Given the description of an element on the screen output the (x, y) to click on. 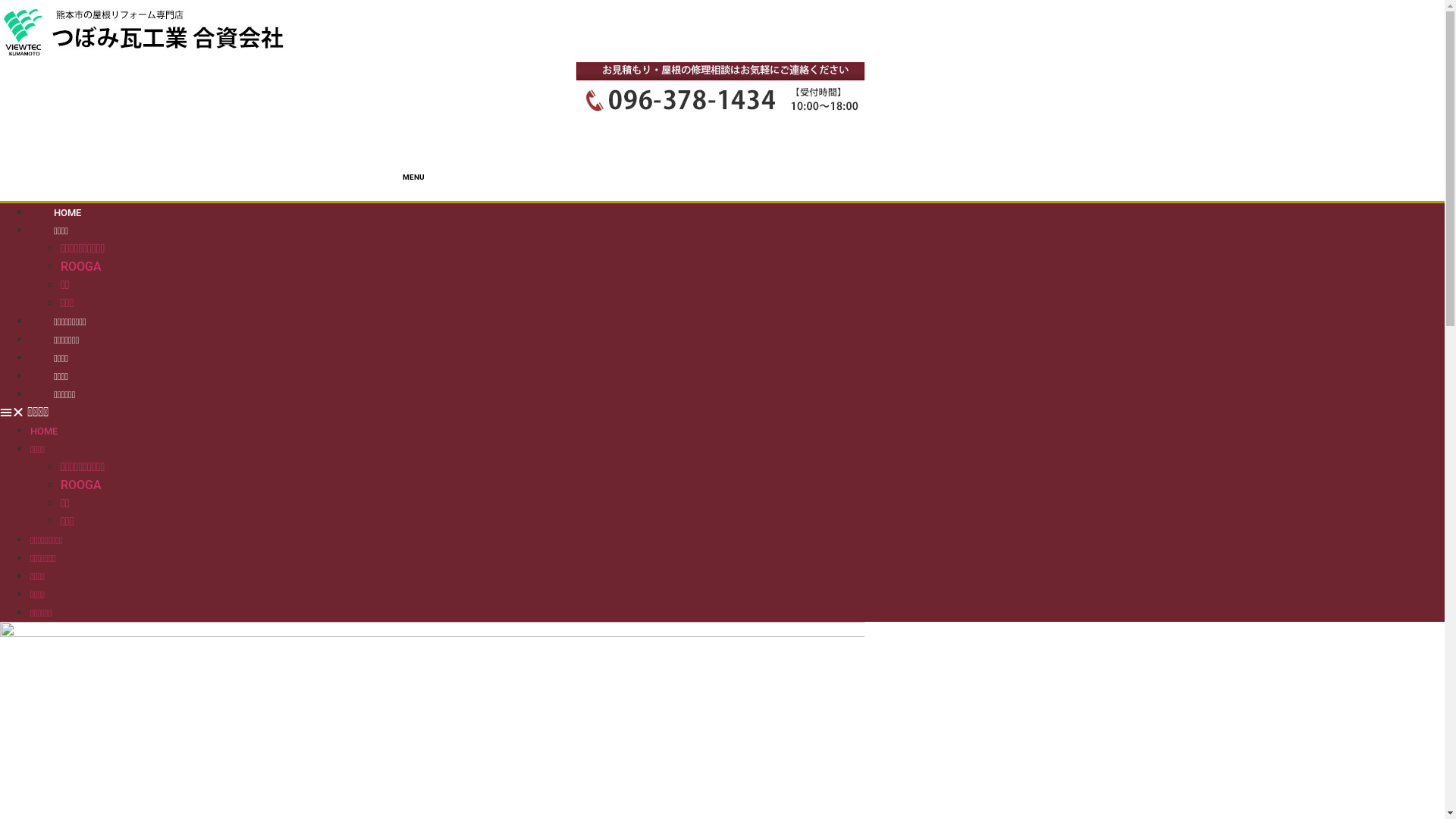
ROOGA Element type: text (80, 266)
ROOGA Element type: text (80, 484)
MENU Element type: text (432, 202)
HOME Element type: text (67, 212)
HOME Element type: text (43, 430)
